Given the description of an element on the screen output the (x, y) to click on. 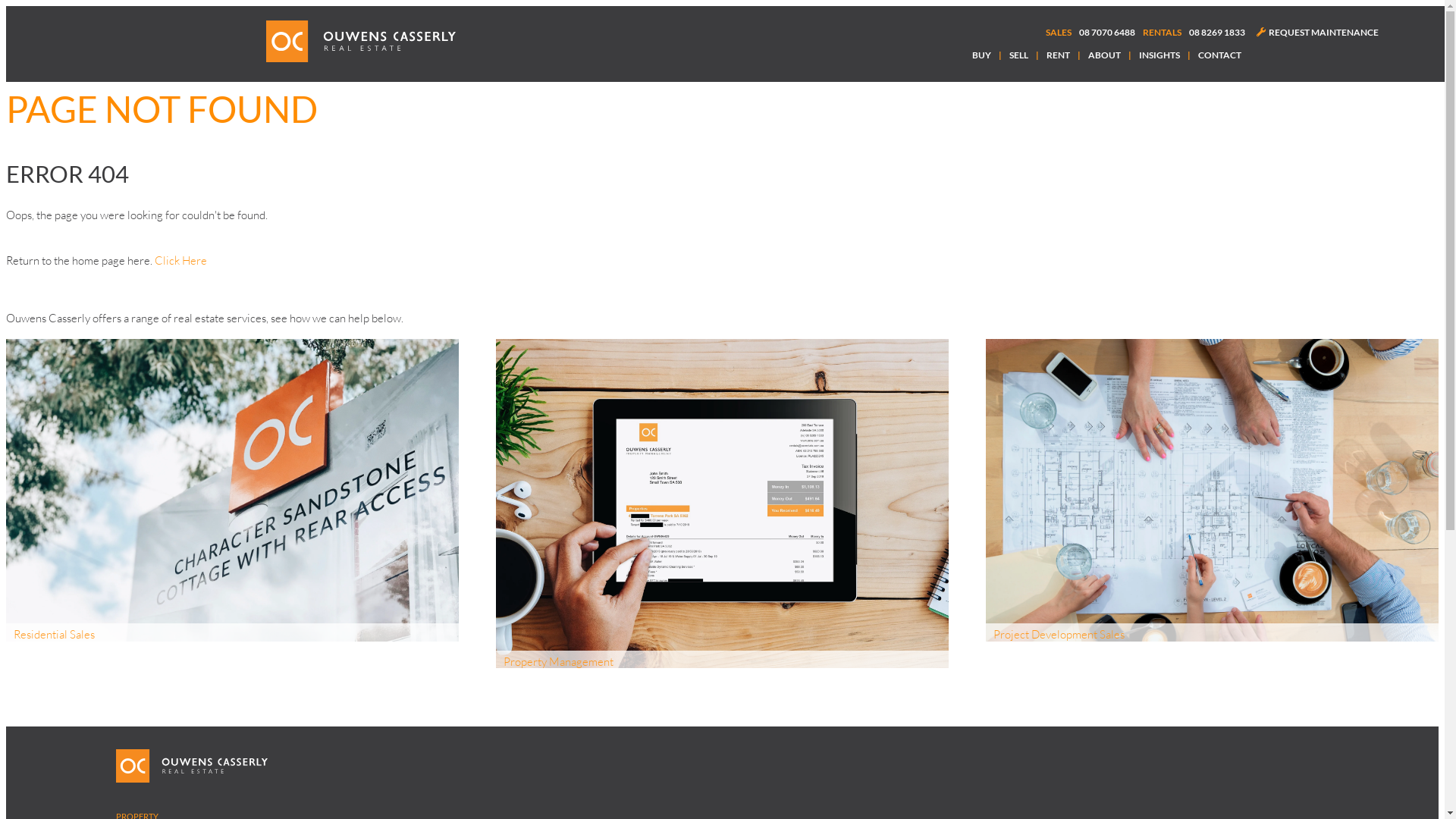
_V9A1901 landscape 2 Element type: hover (232, 489)
REQUEST MAINTENANCE Element type: text (1317, 31)
INSIGHTS Element type: text (1159, 55)
ABOUT Element type: text (1104, 55)
SELL Element type: text (1018, 55)
PROJECT DEVELOPMENT SALES Element type: hover (1211, 489)
CONTACT Element type: text (1219, 55)
PROPERTY MANAGEMENT Element type: hover (721, 503)
Click Here Element type: text (180, 260)
08 7070 6488 Element type: text (1107, 32)
08 8269 1833 Element type: text (1217, 32)
BUY Element type: text (981, 55)
RENT Element type: text (1057, 55)
